Given the description of an element on the screen output the (x, y) to click on. 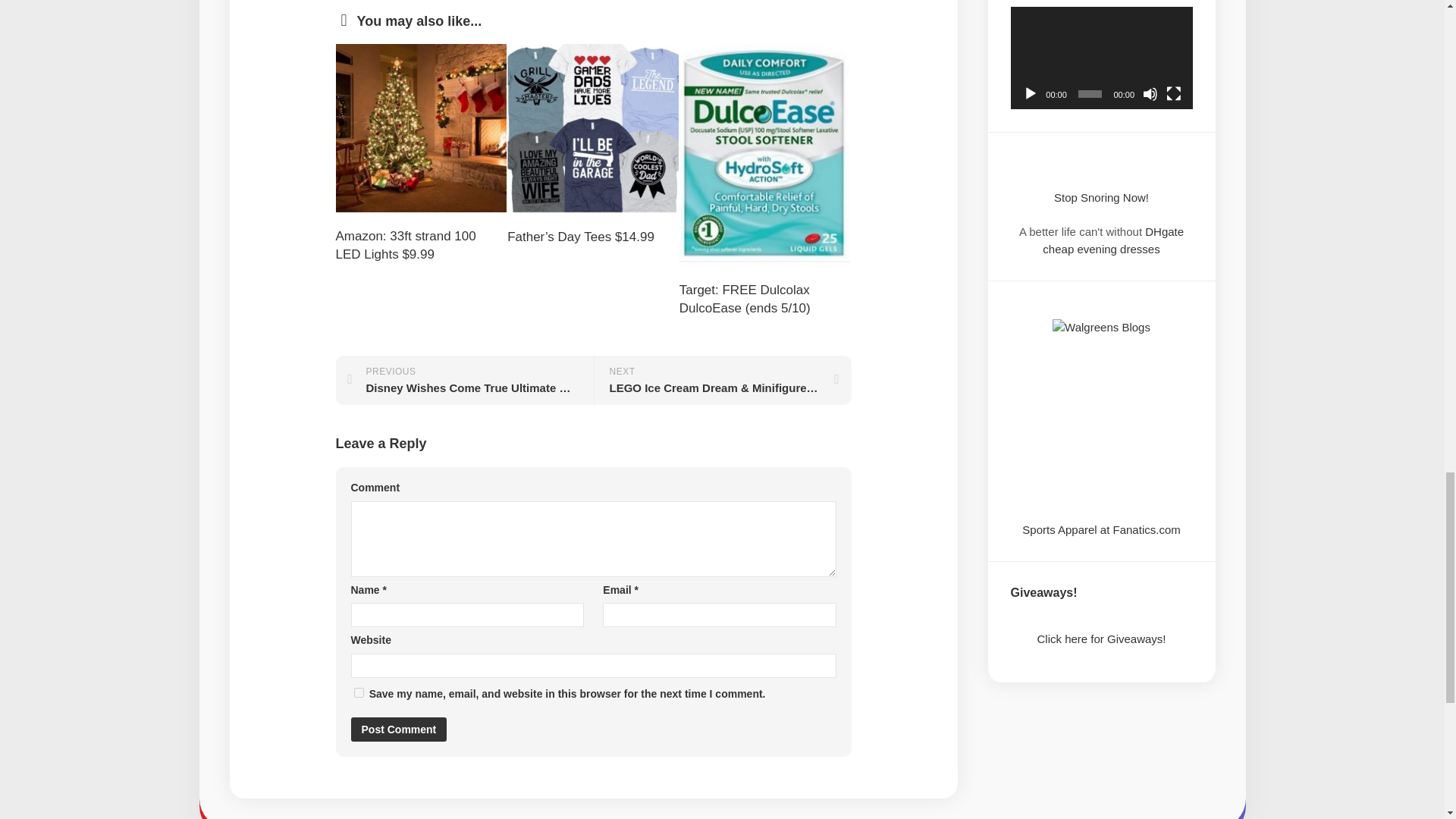
yes (357, 692)
Post Comment (398, 729)
